Given the description of an element on the screen output the (x, y) to click on. 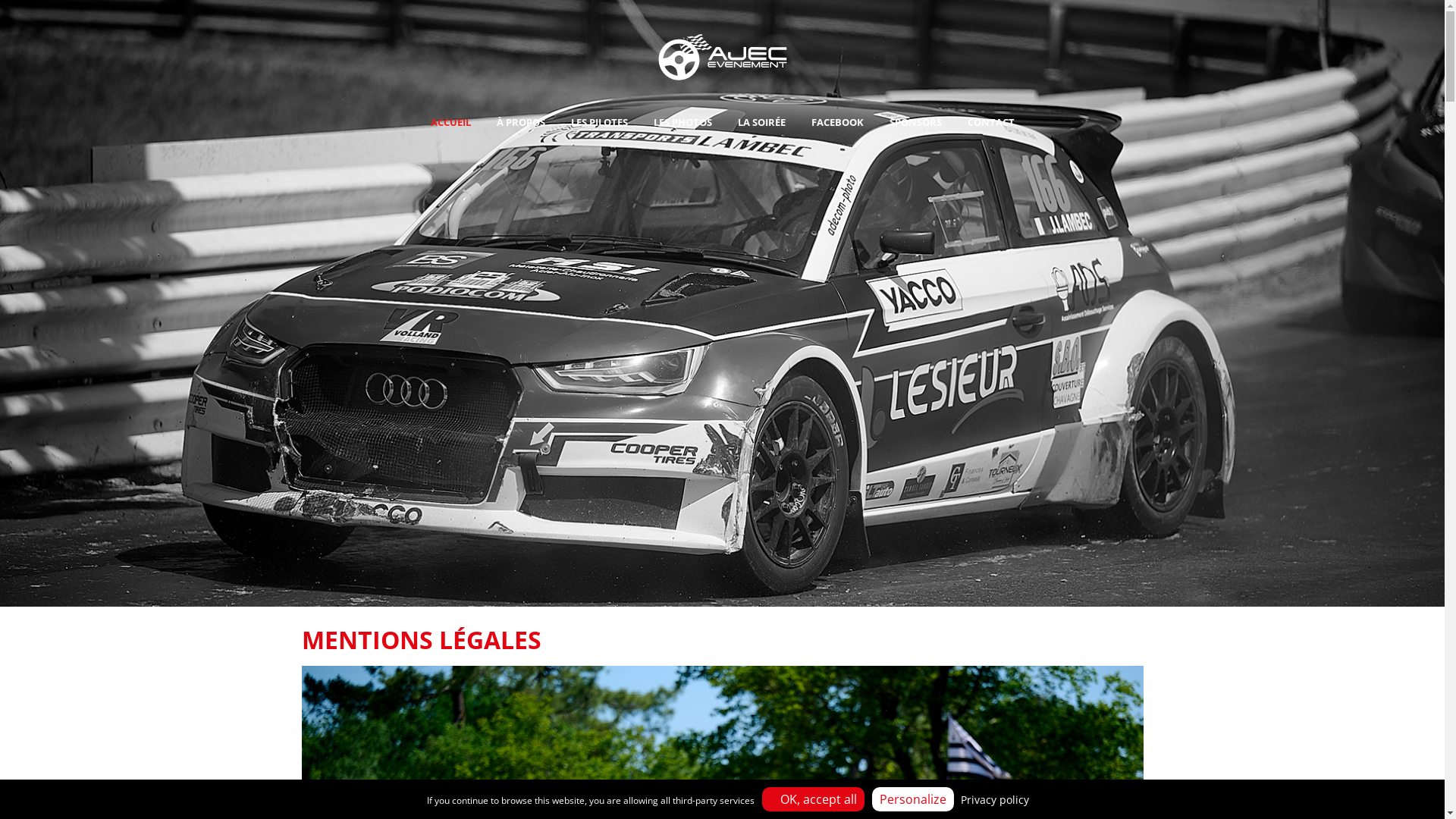
Personalize Element type: text (912, 799)
Privacy policy Element type: text (993, 799)
CONTACT Element type: text (990, 121)
SPONSORS Element type: text (915, 121)
LES PILOTES Element type: text (599, 121)
ACCUEIL Element type: text (449, 121)
FACEBOOK Element type: text (836, 121)
LES PHOTOS Element type: text (681, 121)
